Given the description of an element on the screen output the (x, y) to click on. 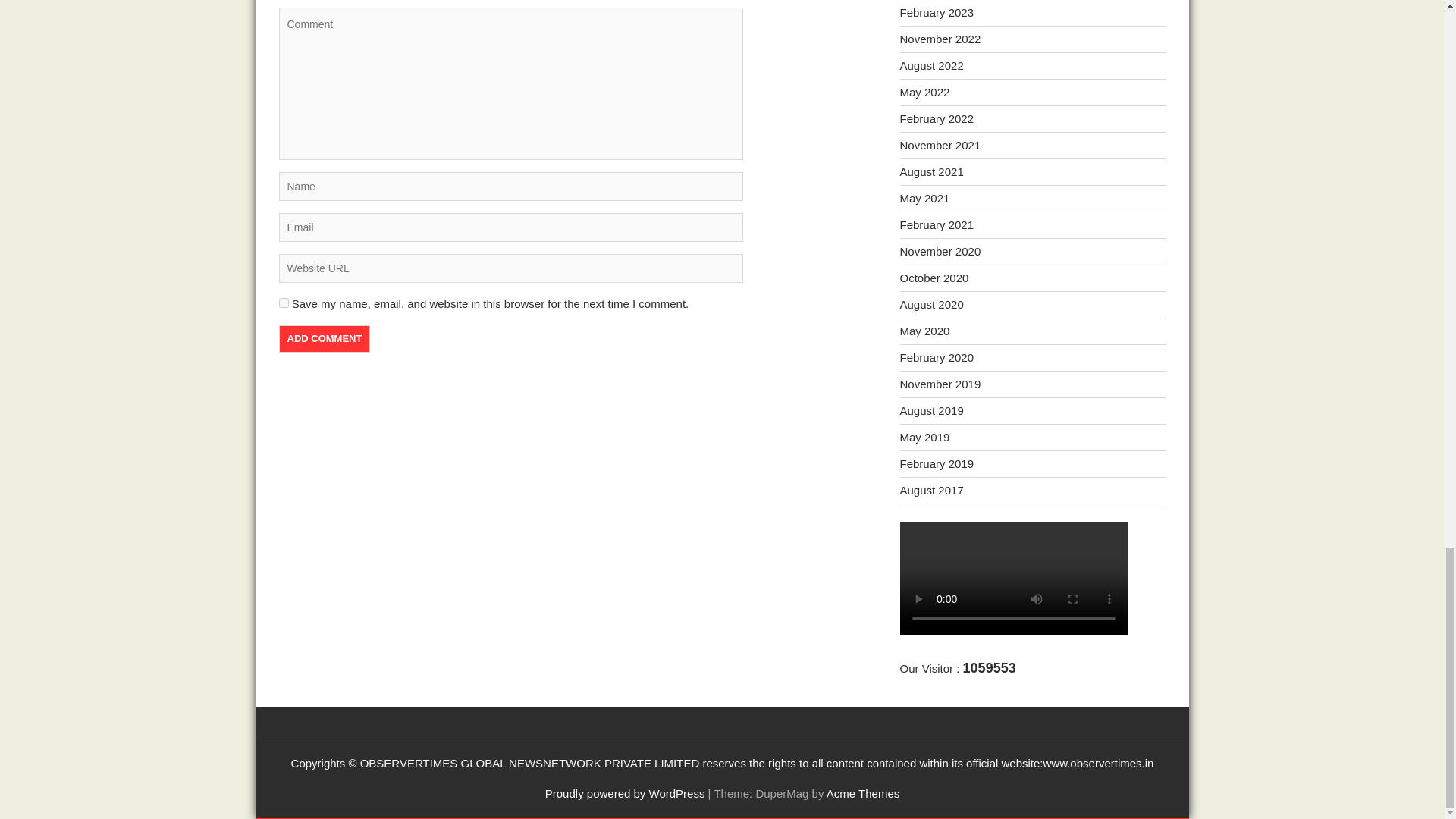
yes (283, 302)
Add Comment (325, 338)
